Given the description of an element on the screen output the (x, y) to click on. 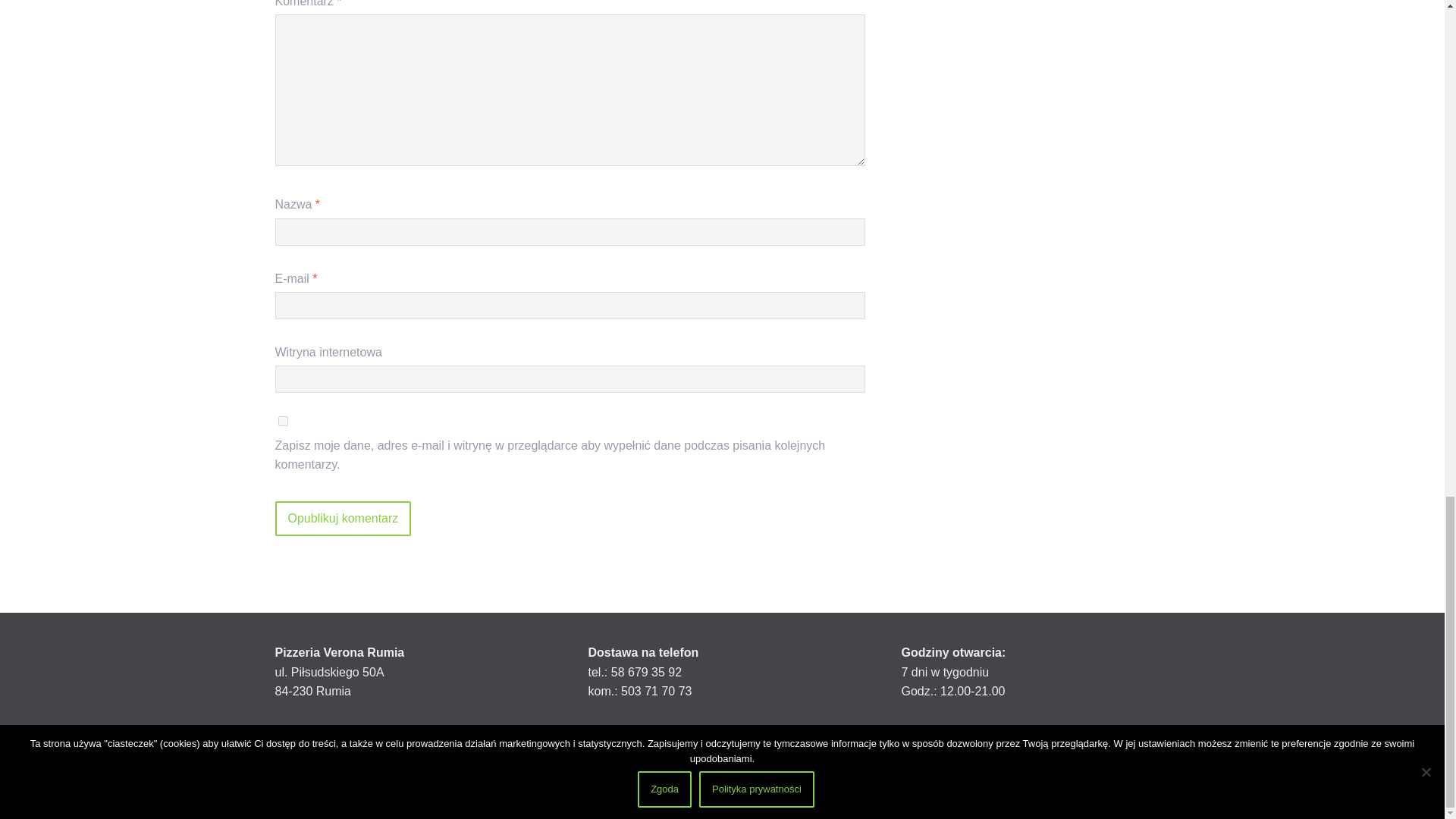
Opublikuj komentarz (342, 518)
Opublikuj komentarz (342, 518)
yes (282, 420)
